Given the description of an element on the screen output the (x, y) to click on. 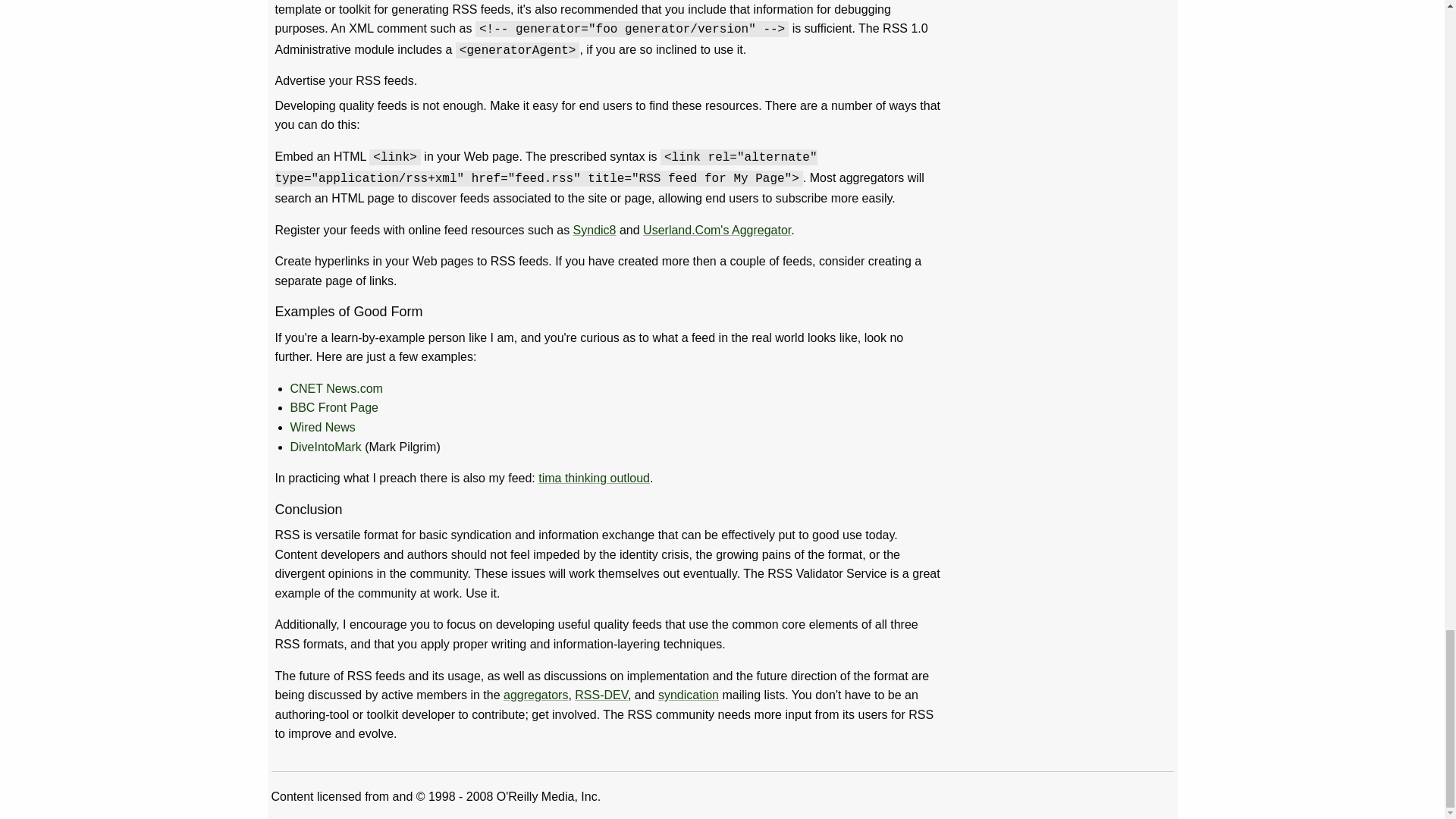
syndication (688, 694)
Userland.Com's Aggregator (716, 229)
DiveIntoMark (325, 446)
BBC Front Page (333, 407)
Syndic8 (594, 229)
tima thinking outloud (593, 477)
CNET News.com (335, 388)
aggregators (535, 694)
RSS-DEV (601, 694)
Wired News (322, 427)
